Given the description of an element on the screen output the (x, y) to click on. 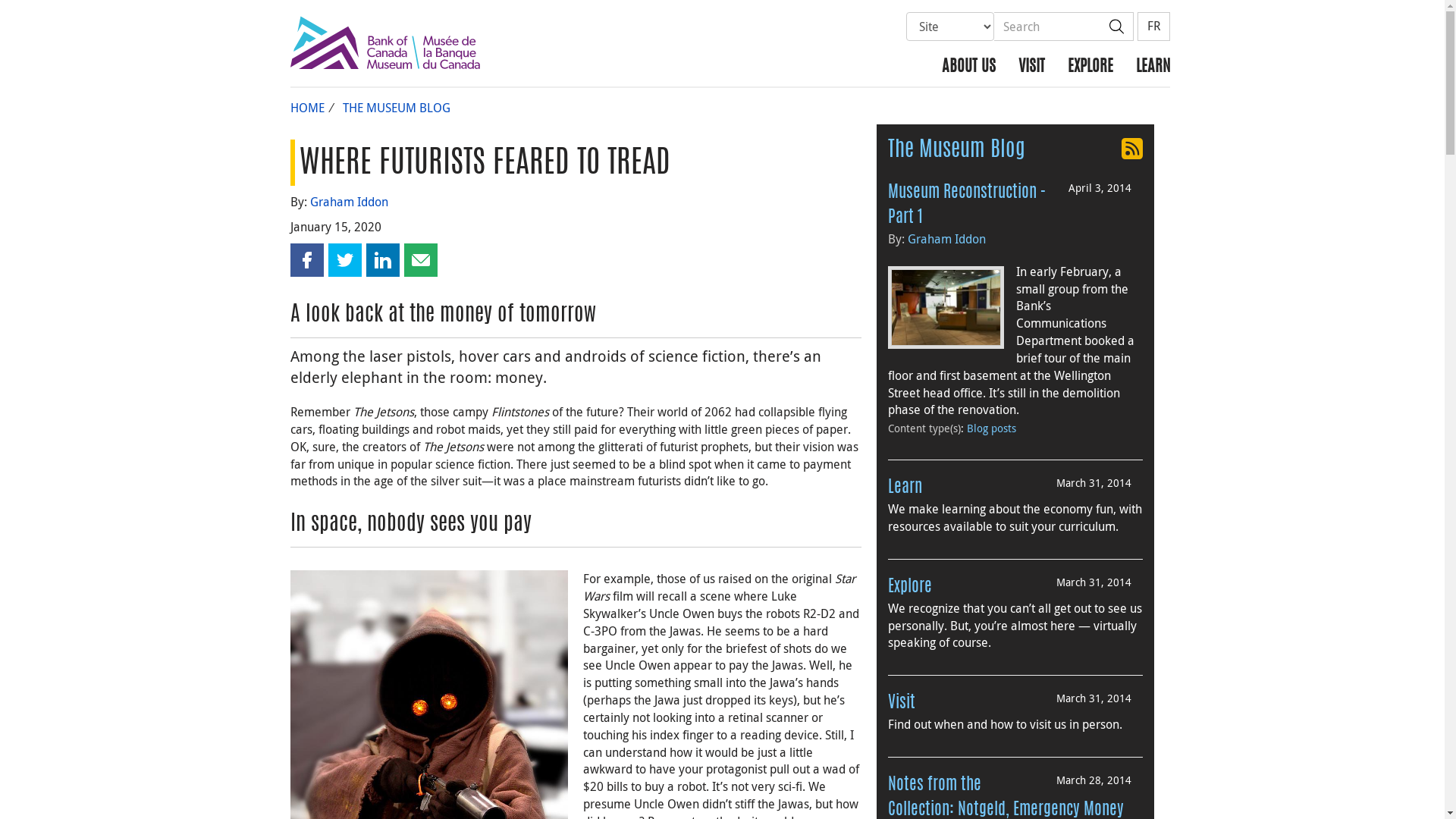
Search Element type: text (1115, 26)
Share this page on Facebook Element type: text (306, 259)
EXPLORE Element type: text (1089, 65)
Search Element type: hover (1046, 26)
Graham Iddon Element type: text (946, 238)
The Museum Blog Element type: text (956, 150)
LEARN Element type: text (1146, 65)
Museum Reconstruction - Part 1 Element type: text (966, 204)
Share this page by email Element type: text (419, 259)
Share this page on LinkedIn Element type: text (381, 259)
Visit Element type: text (901, 702)
Explore Element type: text (909, 586)
Blog posts Element type: text (991, 427)
Learn Element type: text (905, 487)
FR Element type: text (1153, 26)
ABOUT US Element type: text (967, 65)
Graham Iddon Element type: text (348, 201)
THE MUSEUM BLOG Element type: text (396, 107)
Share this page on Twitter Element type: text (343, 259)
HOME Element type: text (306, 107)
VISIT Element type: text (1031, 65)
